Given the description of an element on the screen output the (x, y) to click on. 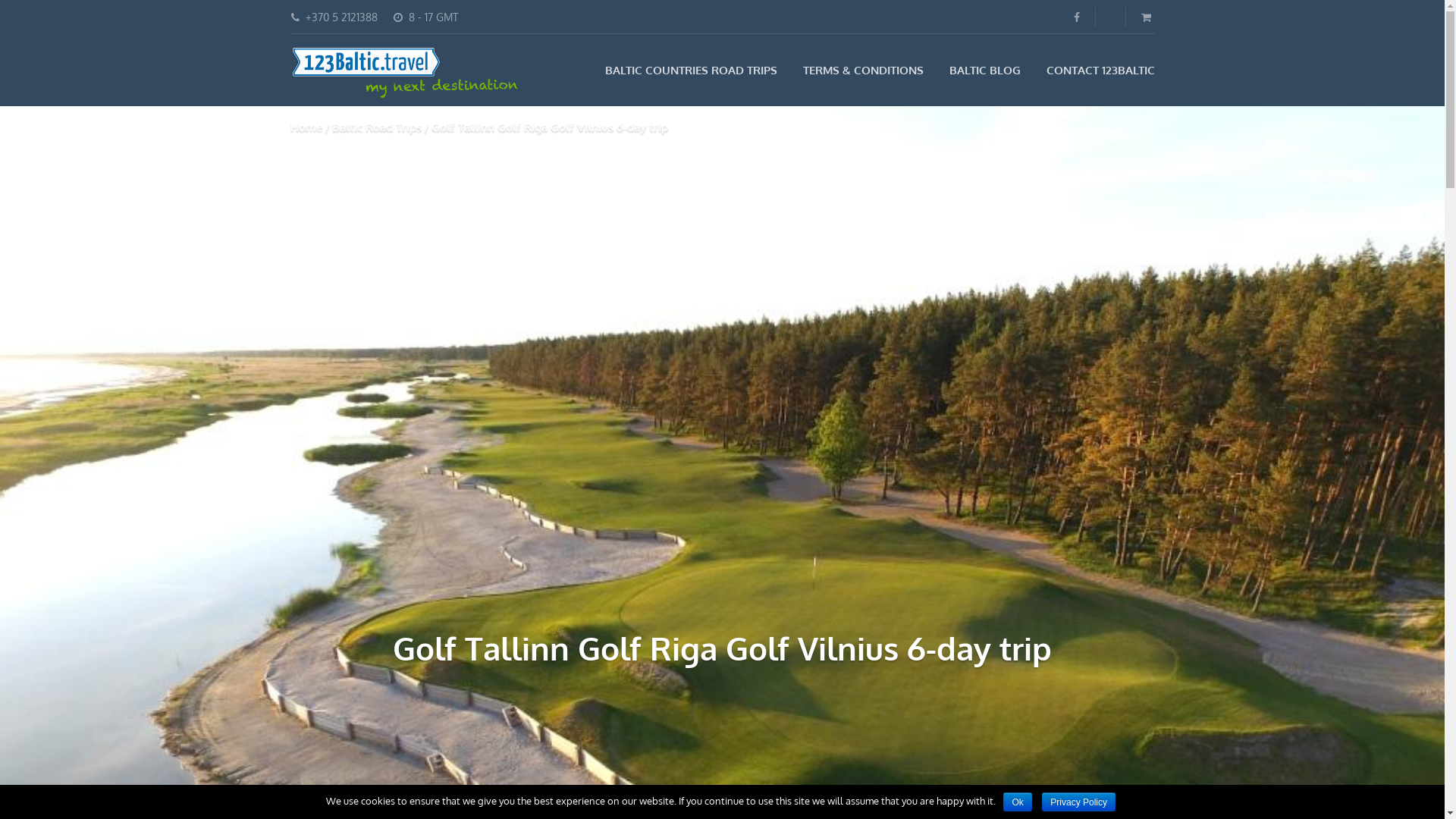
TERMS & CONDITIONS Element type: text (862, 69)
Baltic Road Trips Element type: text (376, 126)
Ok Element type: text (1017, 801)
BALTIC COUNTRIES ROAD TRIPS Element type: text (691, 69)
Home Element type: text (305, 126)
Baltic Countries Road Trips by local professionals Element type: hover (403, 71)
Privacy Policy Element type: text (1078, 801)
BALTIC BLOG Element type: text (984, 69)
CONTACT 123BALTIC Element type: text (1100, 69)
